Given the description of an element on the screen output the (x, y) to click on. 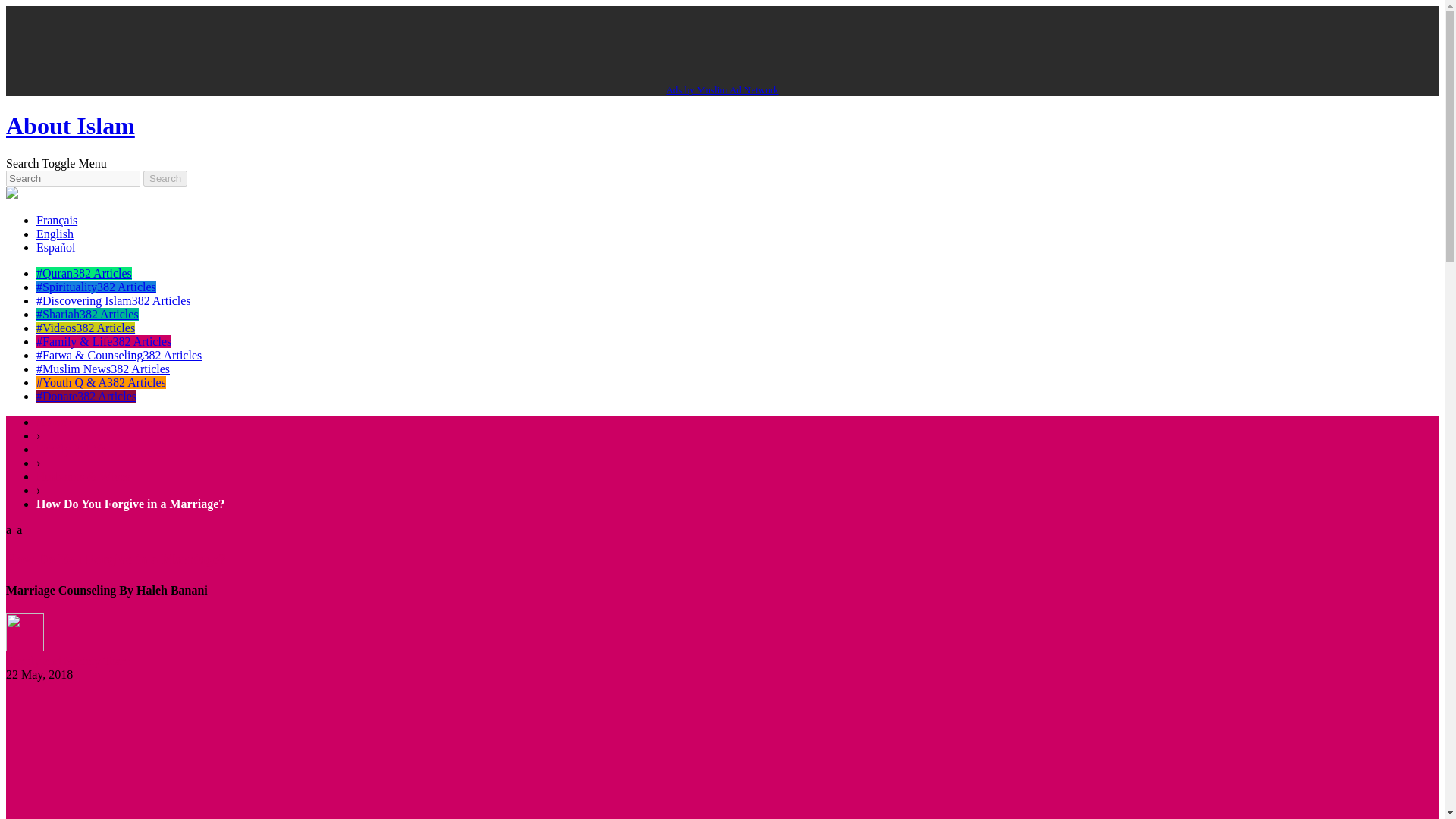
Advertise and Market to Muslims (721, 89)
Home (50, 421)
English (55, 233)
About Islam (70, 125)
Search (164, 178)
Family and Society Team (67, 660)
Toggle Menu (74, 163)
Ads by Muslim Ad Network (721, 89)
Search (22, 163)
Search (164, 178)
